Given the description of an element on the screen output the (x, y) to click on. 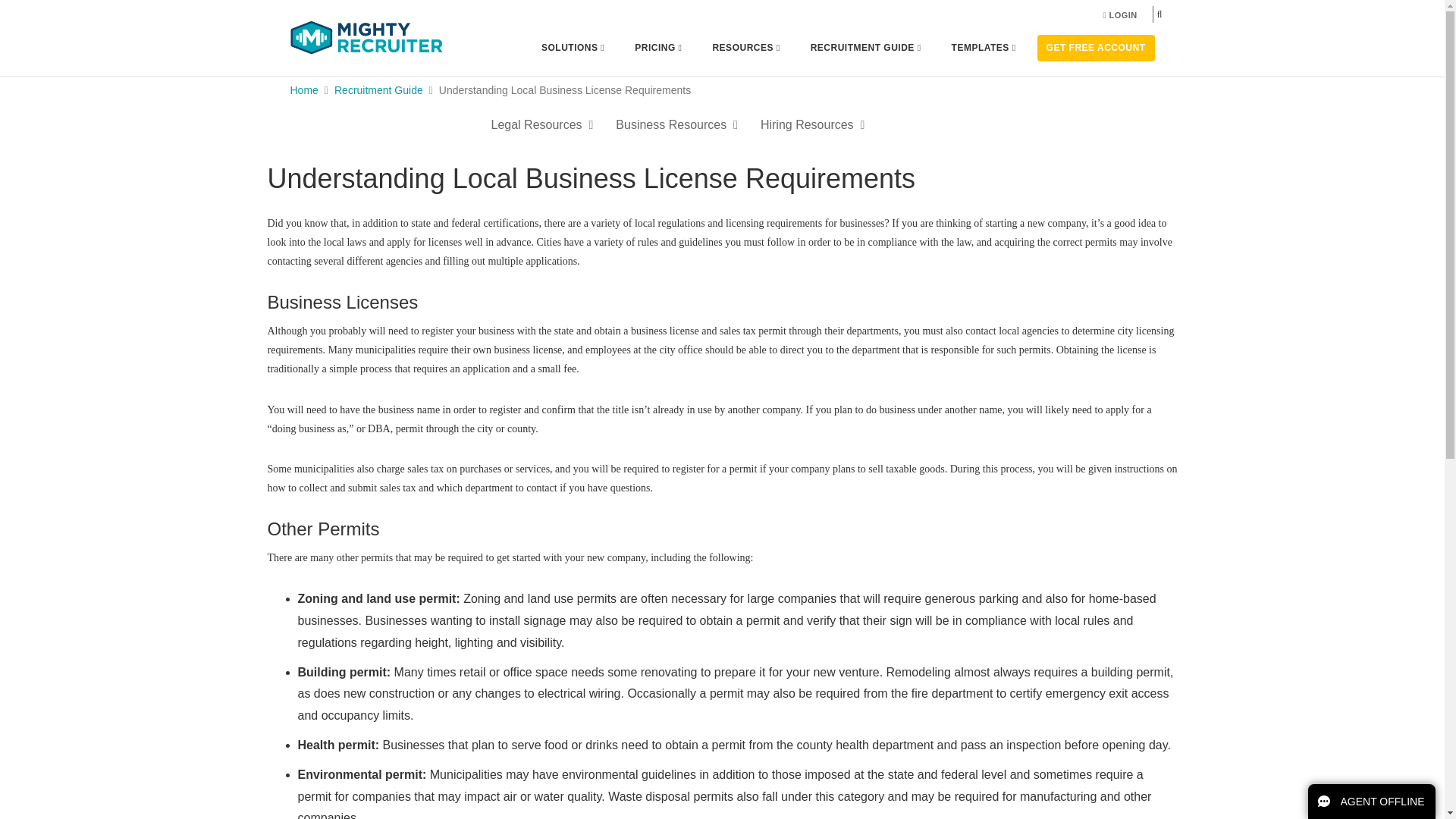
RECRUITMENT GUIDE (866, 48)
PRICING (658, 48)
MightyRecruiter (365, 36)
TEMPLATES (983, 48)
Home (303, 90)
SOLUTIONS (572, 48)
LOGIN (1119, 15)
RESOURCES (745, 48)
Legal Resources   (541, 125)
